Given the description of an element on the screen output the (x, y) to click on. 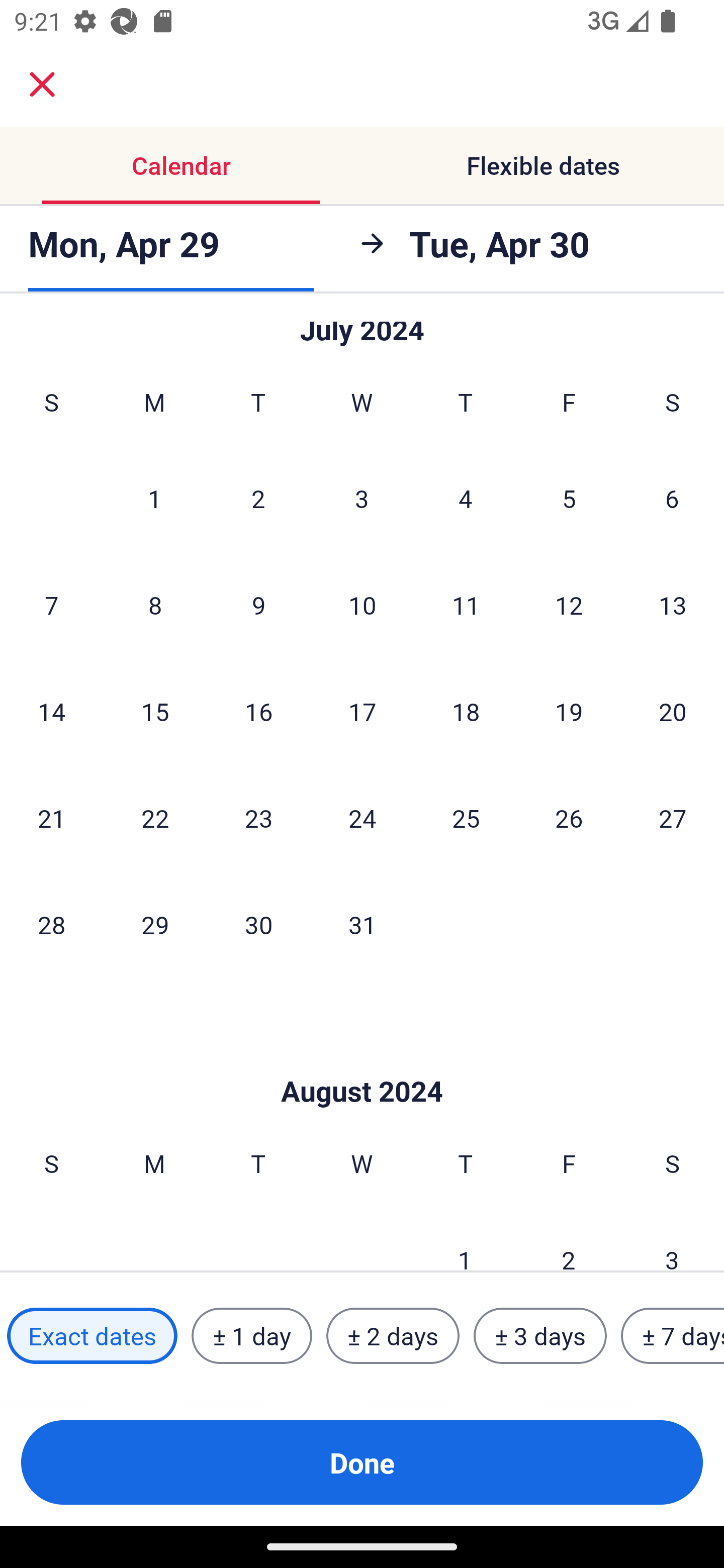
close. (42, 84)
Flexible dates (542, 164)
1 Monday, July 1, 2024 (154, 498)
2 Tuesday, July 2, 2024 (257, 498)
3 Wednesday, July 3, 2024 (361, 498)
4 Thursday, July 4, 2024 (465, 498)
5 Friday, July 5, 2024 (568, 498)
6 Saturday, July 6, 2024 (672, 498)
7 Sunday, July 7, 2024 (51, 604)
8 Monday, July 8, 2024 (155, 604)
9 Tuesday, July 9, 2024 (258, 604)
10 Wednesday, July 10, 2024 (362, 604)
11 Thursday, July 11, 2024 (465, 604)
12 Friday, July 12, 2024 (569, 604)
13 Saturday, July 13, 2024 (672, 604)
14 Sunday, July 14, 2024 (51, 711)
15 Monday, July 15, 2024 (155, 711)
16 Tuesday, July 16, 2024 (258, 711)
17 Wednesday, July 17, 2024 (362, 711)
18 Thursday, July 18, 2024 (465, 711)
19 Friday, July 19, 2024 (569, 711)
20 Saturday, July 20, 2024 (672, 711)
21 Sunday, July 21, 2024 (51, 817)
22 Monday, July 22, 2024 (155, 817)
23 Tuesday, July 23, 2024 (258, 817)
24 Wednesday, July 24, 2024 (362, 817)
25 Thursday, July 25, 2024 (465, 817)
26 Friday, July 26, 2024 (569, 817)
27 Saturday, July 27, 2024 (672, 817)
28 Sunday, July 28, 2024 (51, 924)
29 Monday, July 29, 2024 (155, 924)
30 Tuesday, July 30, 2024 (258, 924)
31 Wednesday, July 31, 2024 (362, 924)
Skip to Done (362, 1061)
1 Thursday, August 1, 2024 (464, 1239)
2 Friday, August 2, 2024 (568, 1239)
3 Saturday, August 3, 2024 (672, 1239)
Exact dates (92, 1335)
± 1 day (251, 1335)
± 2 days (392, 1335)
± 3 days (539, 1335)
± 7 days (672, 1335)
Done (361, 1462)
